Given the description of an element on the screen output the (x, y) to click on. 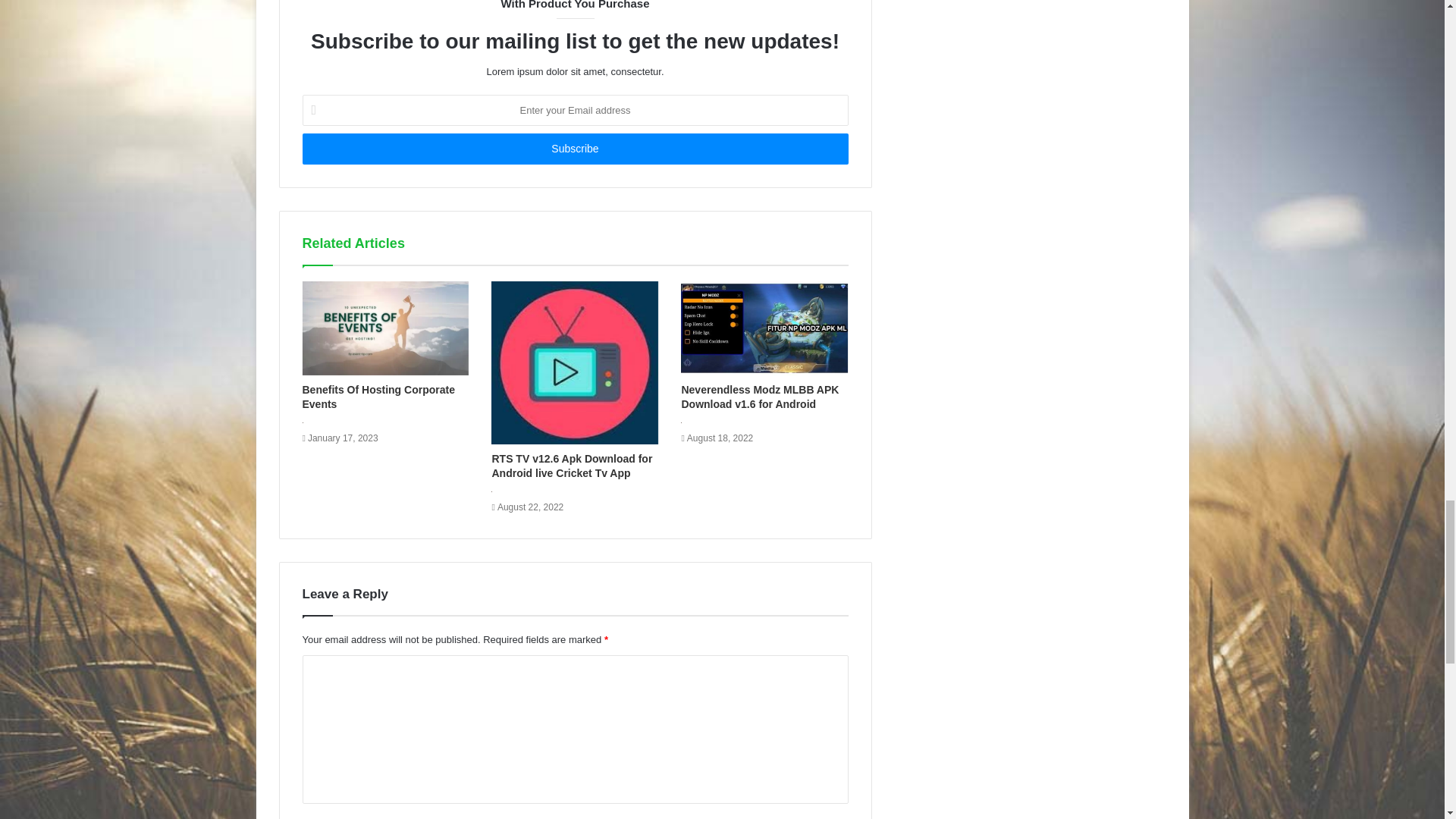
Subscribe (574, 148)
